Given the description of an element on the screen output the (x, y) to click on. 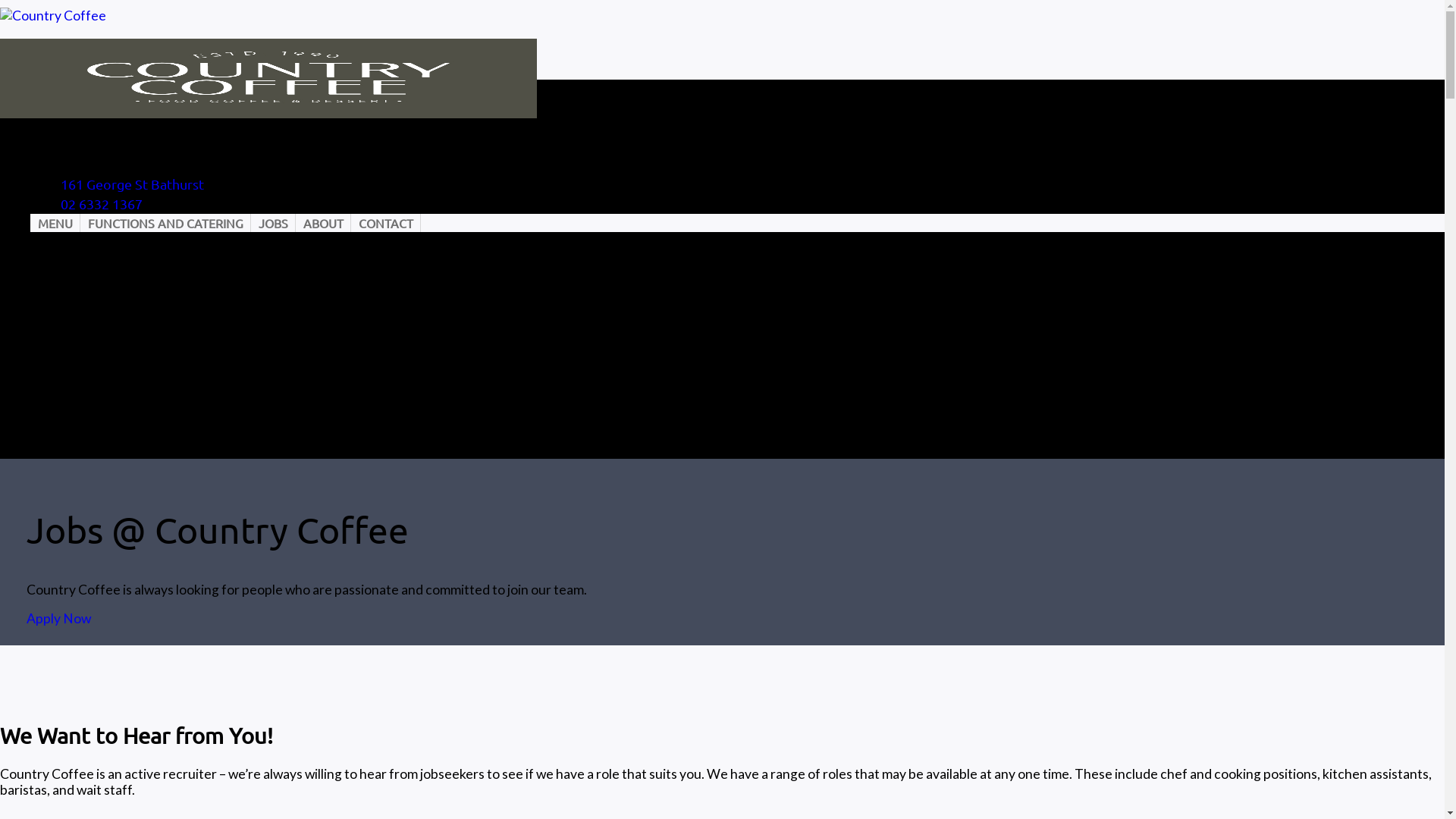
Apply Now Element type: text (58, 618)
CONTACT Element type: text (385, 222)
161 George St Bathurst Element type: text (131, 183)
JOBS Element type: text (273, 222)
FUNCTIONS AND CATERING Element type: text (165, 222)
Country Coffee - Cafe Bathurst Element type: hover (268, 67)
02 6332 1367 Element type: text (101, 203)
ABOUT Element type: text (323, 222)
MENU Element type: text (55, 222)
